Given the description of an element on the screen output the (x, y) to click on. 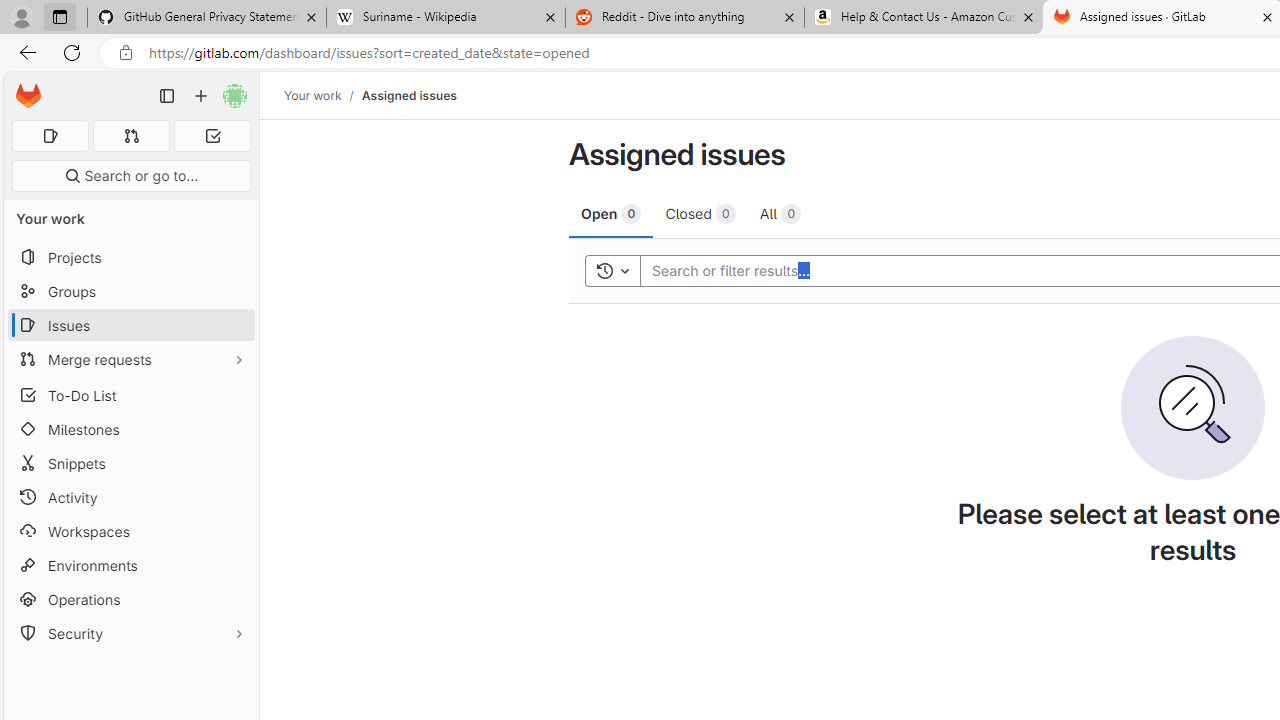
Assigned issues (408, 95)
To-Do List (130, 394)
Toggle history (612, 270)
Primary navigation sidebar (167, 96)
Milestones (130, 429)
